Given the description of an element on the screen output the (x, y) to click on. 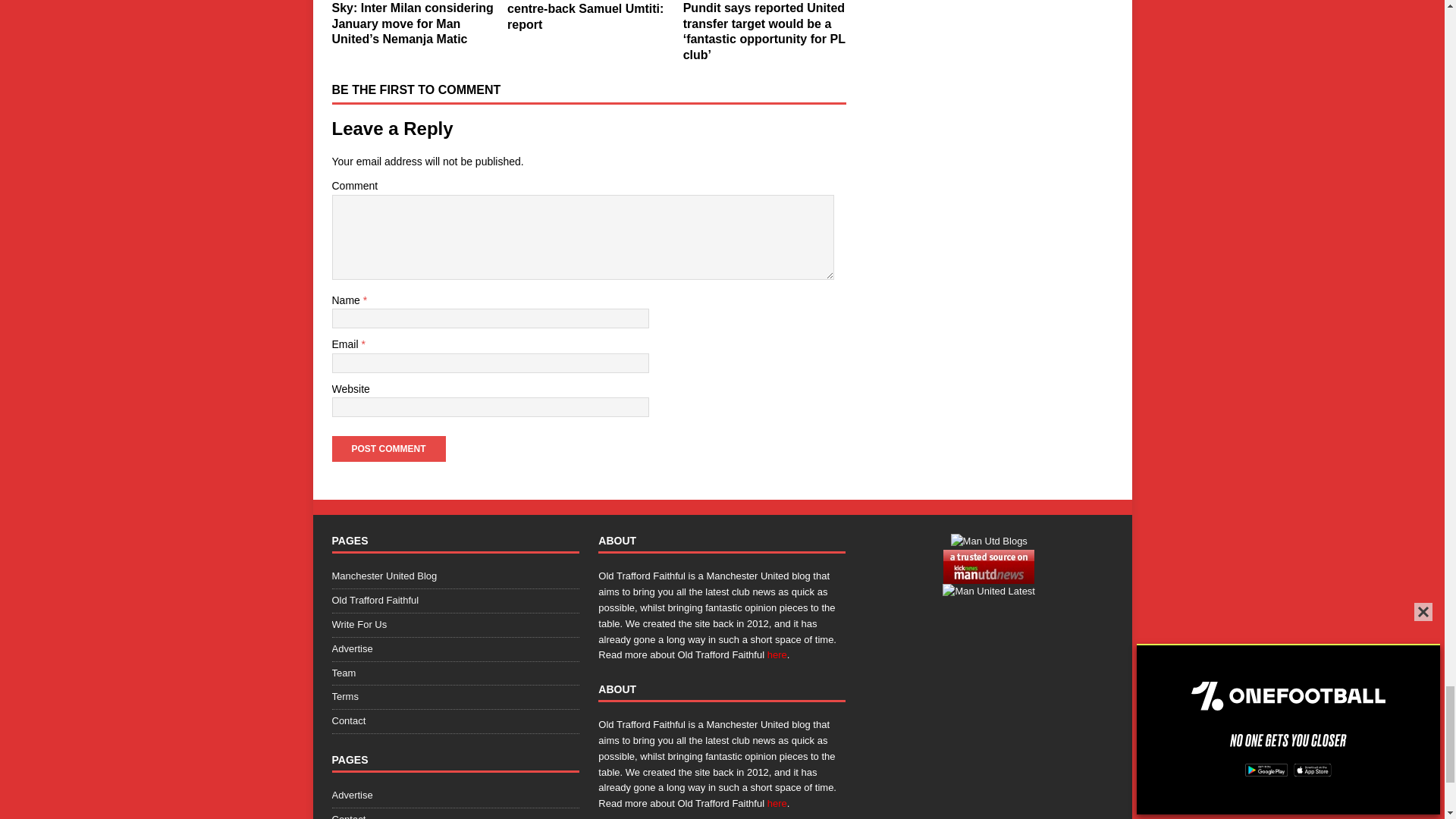
Post Comment (388, 448)
